Given the description of an element on the screen output the (x, y) to click on. 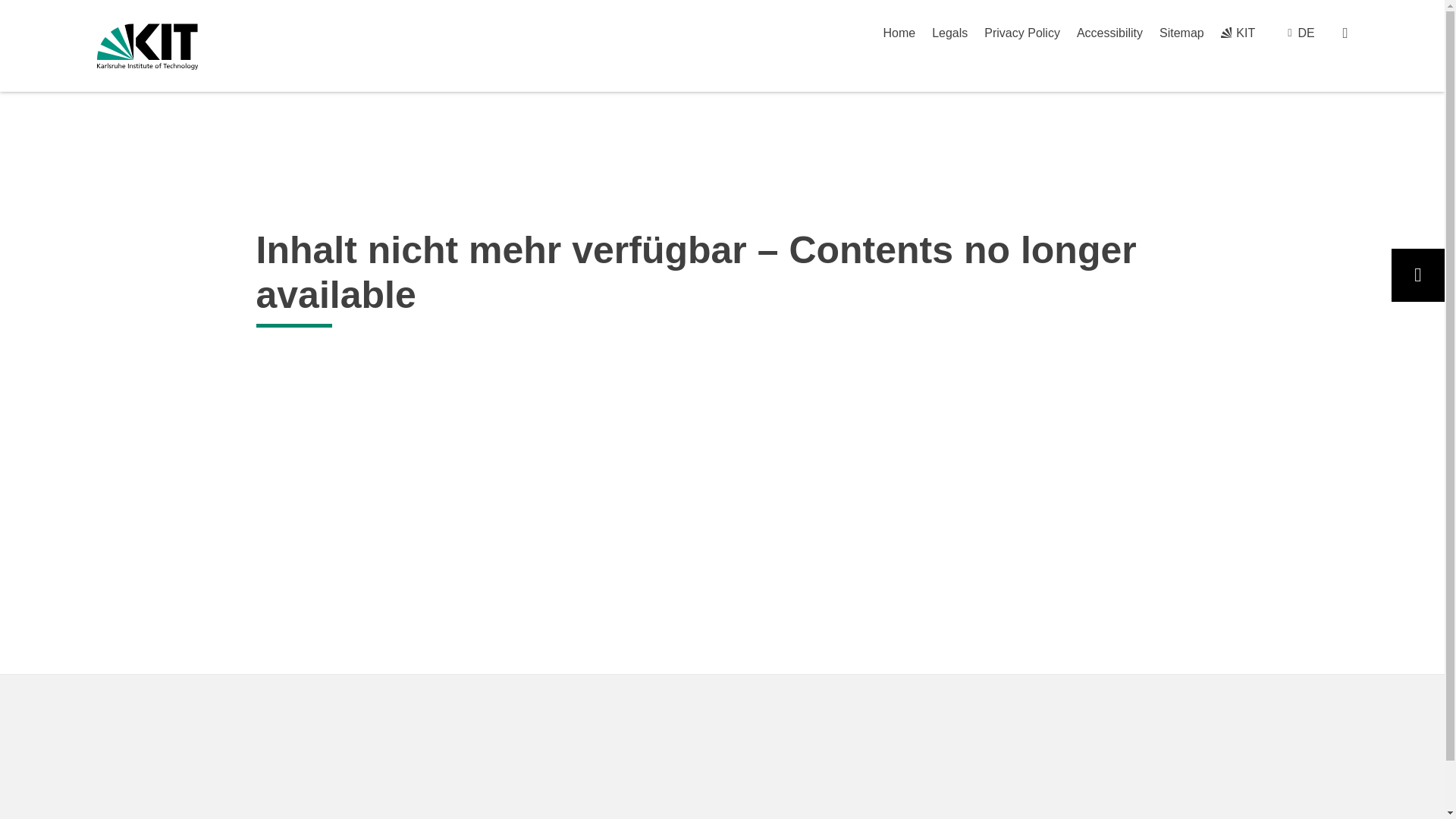
Home (898, 32)
Sitemap (1181, 32)
Privacy Policy (1021, 32)
KIT-Homepage (1238, 32)
startpage (898, 32)
KIT-Homepage (147, 46)
Legals (949, 32)
KIT (1238, 32)
DE (1305, 32)
Accessibility (1109, 32)
